Given the description of an element on the screen output the (x, y) to click on. 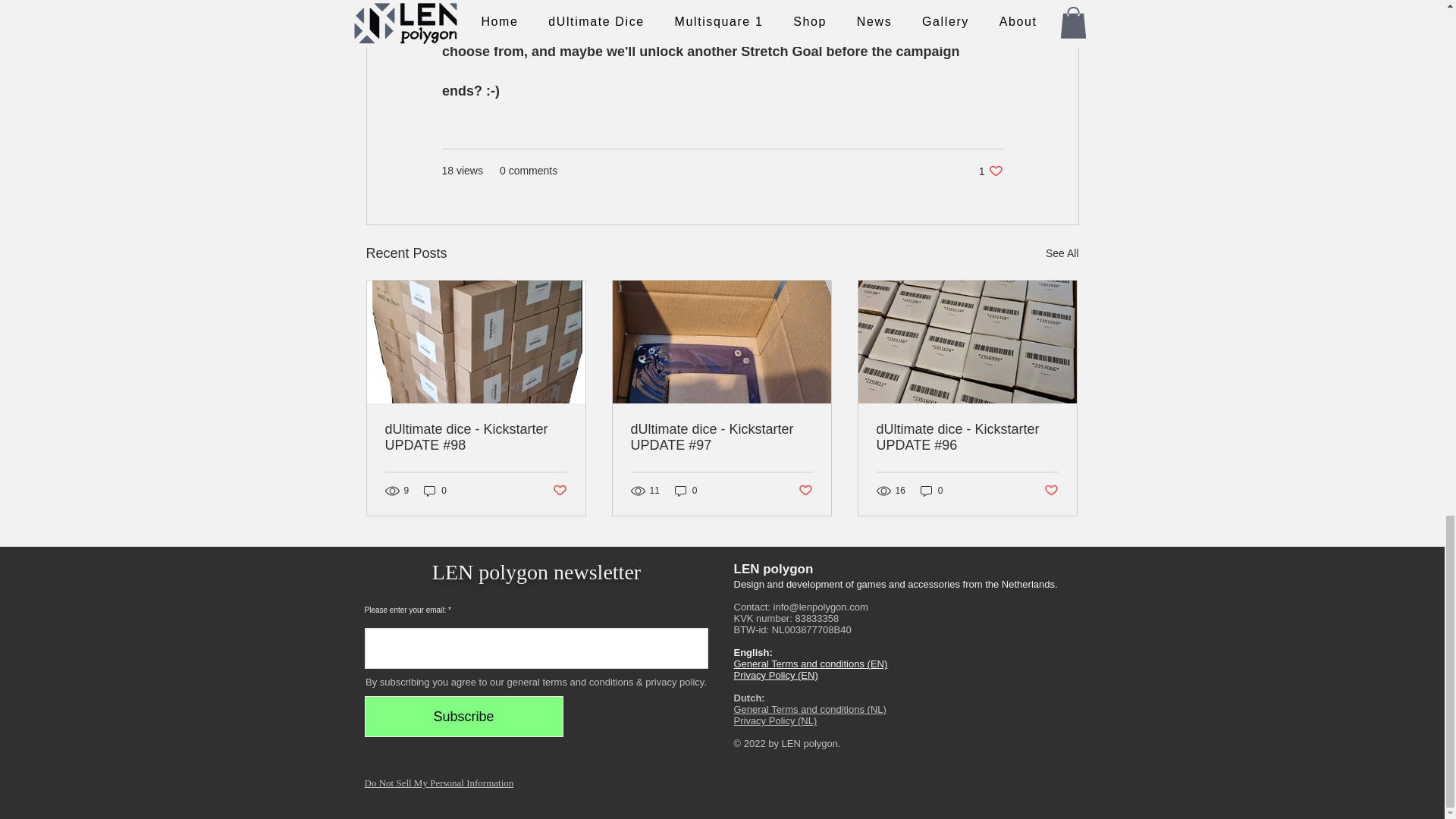
0 (931, 490)
0 (435, 490)
Post not marked as liked (1050, 490)
See All (1061, 253)
Post not marked as liked (804, 490)
Do Not Sell My Personal Information (438, 783)
Post not marked as liked (558, 490)
0 (990, 170)
Subscribe (685, 490)
